Given the description of an element on the screen output the (x, y) to click on. 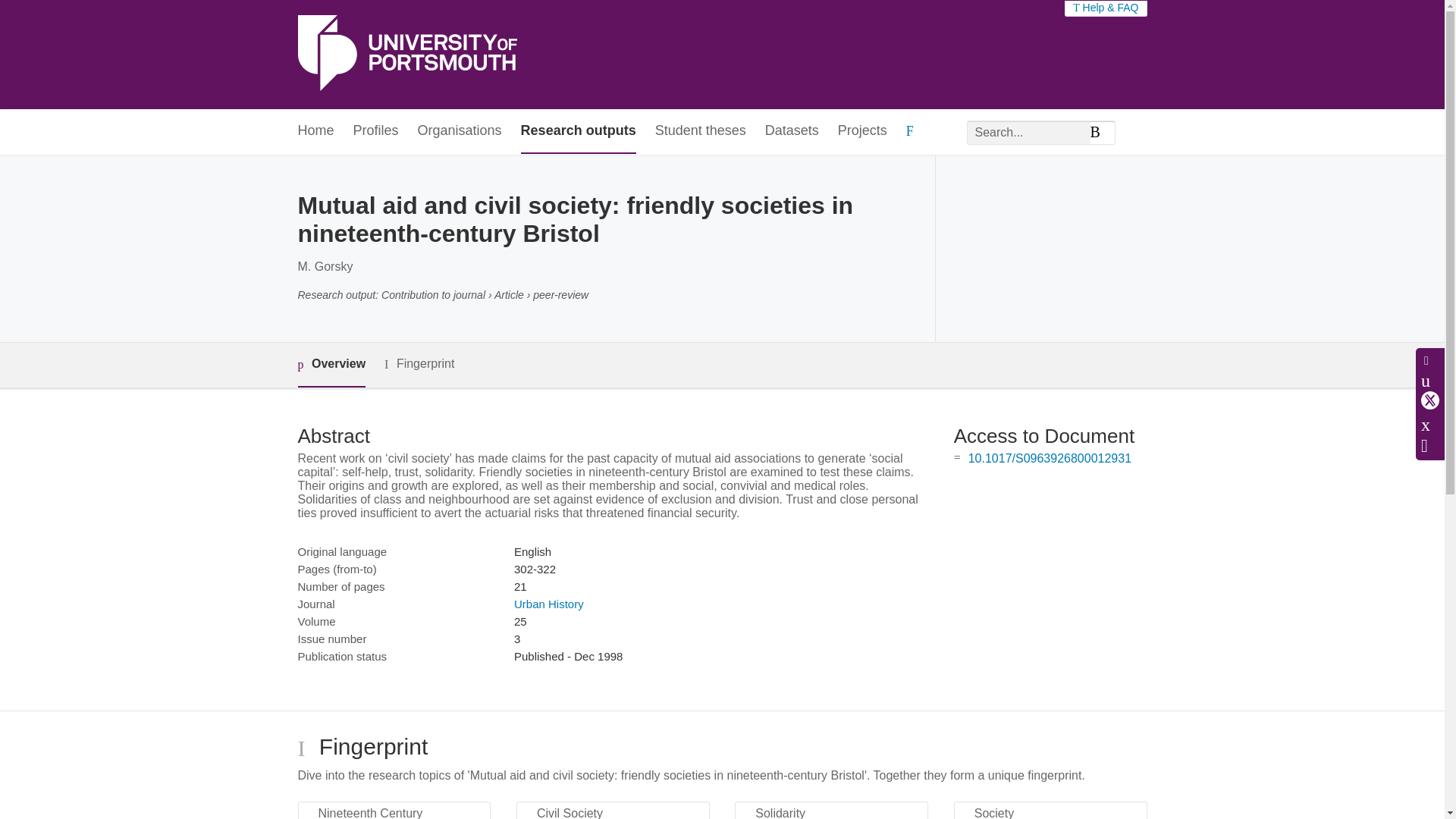
Projects (862, 130)
Urban History (548, 603)
Fingerprint (419, 364)
Research outputs (578, 130)
Organisations (459, 130)
Profiles (375, 130)
Datasets (791, 130)
Student theses (700, 130)
University of Portsmouth Home (406, 54)
Overview (331, 365)
